Given the description of an element on the screen output the (x, y) to click on. 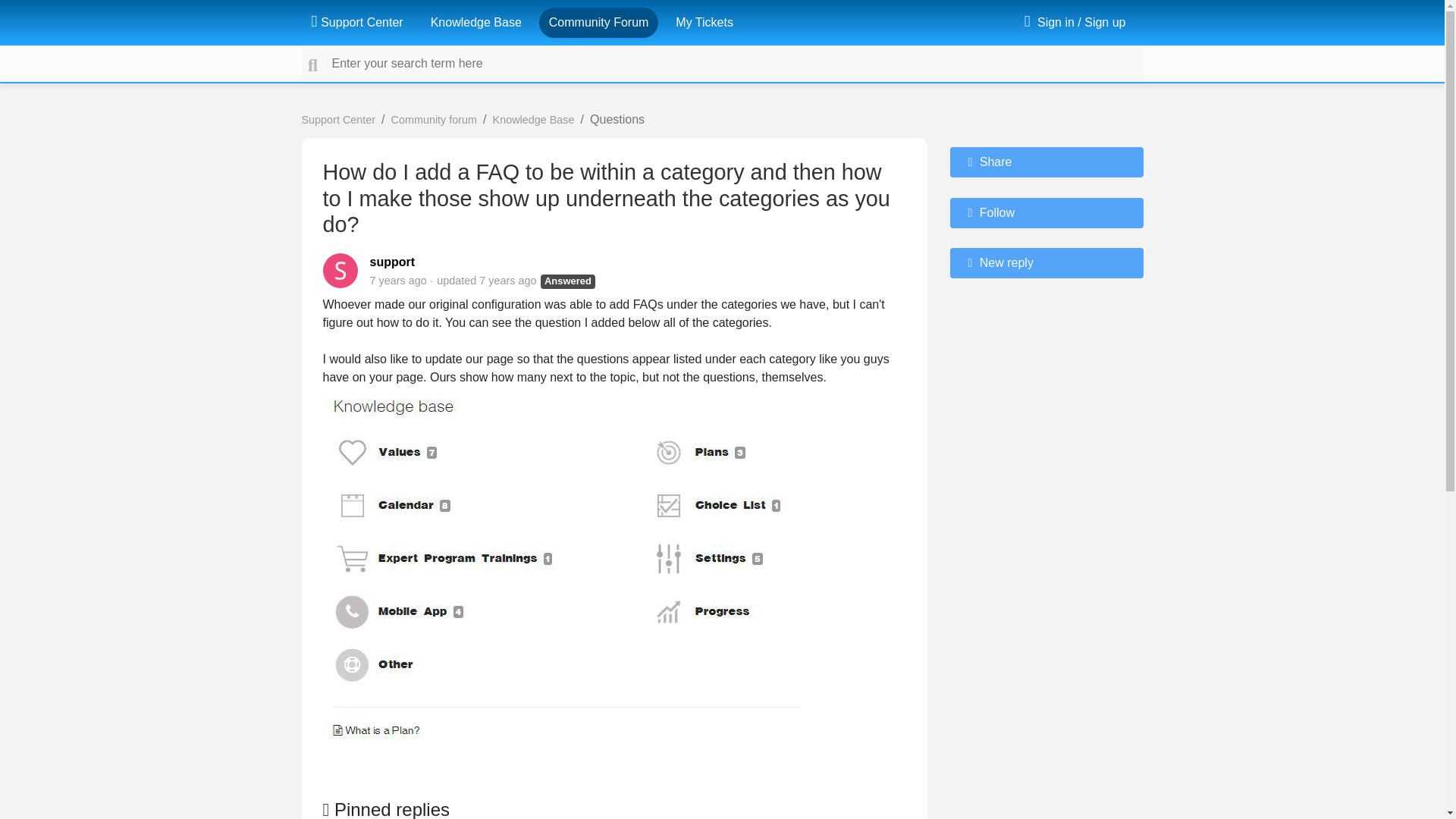
My Tickets (704, 22)
Community Forum (599, 22)
Share (1045, 162)
Support Center (338, 119)
New reply (1045, 263)
Follow (1045, 213)
Knowledge Base (476, 22)
Support Center (356, 22)
support (391, 261)
Community forum (434, 119)
